Given the description of an element on the screen output the (x, y) to click on. 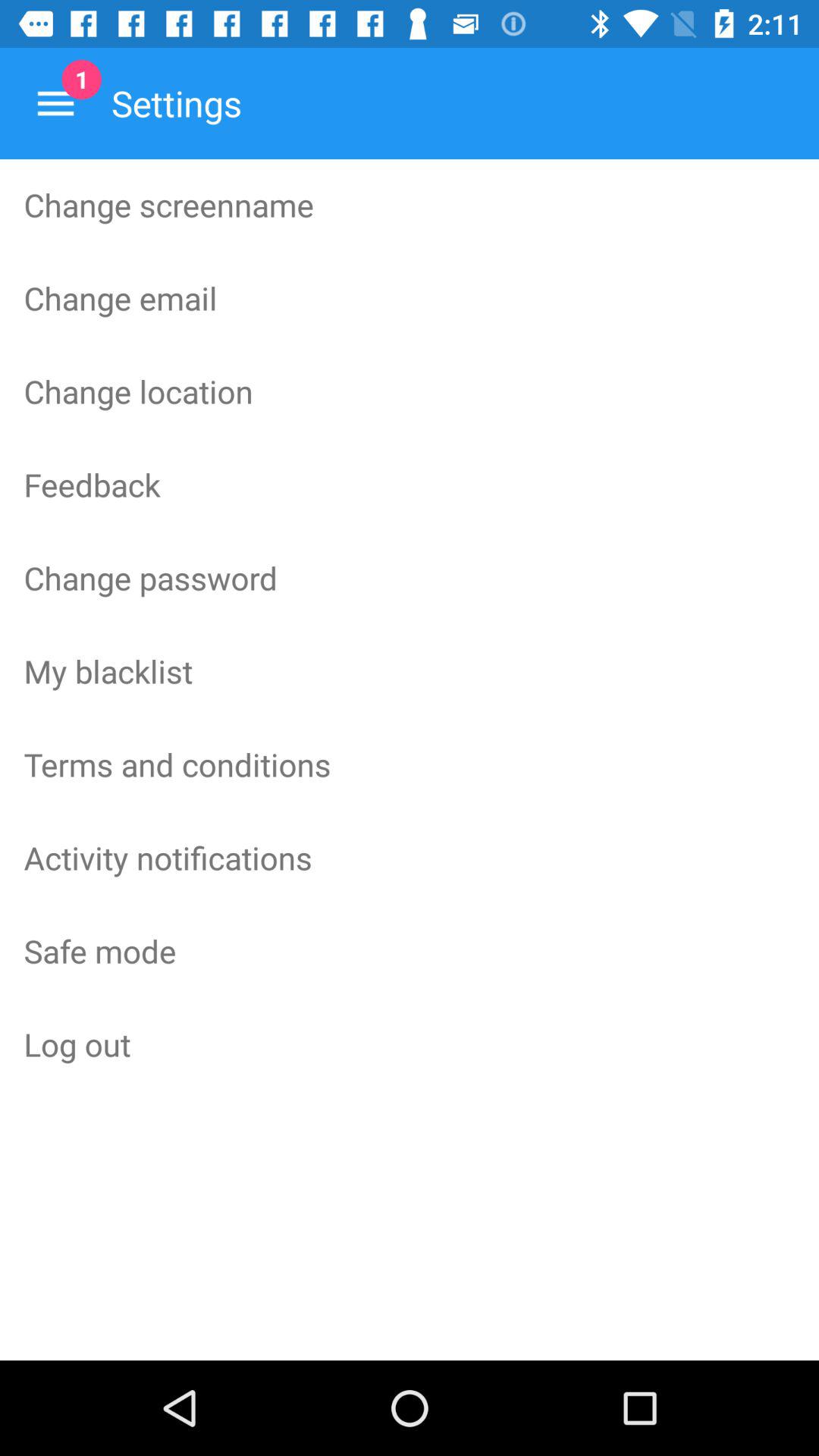
open the icon above terms and conditions item (409, 670)
